Given the description of an element on the screen output the (x, y) to click on. 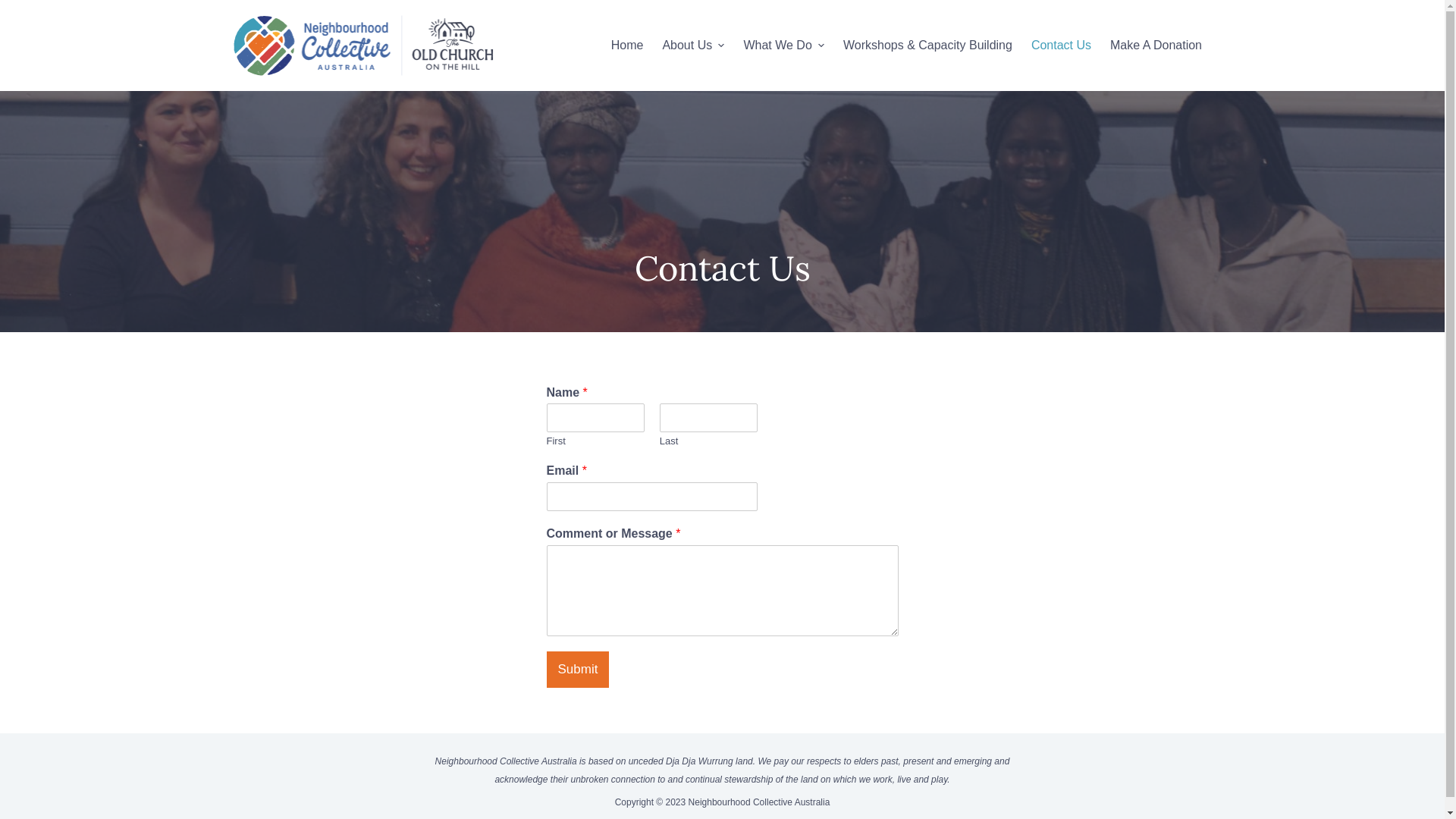
Make A Donation Element type: text (1156, 45)
Skip to content Element type: text (15, 7)
Submit Element type: text (577, 669)
Workshops & Capacity Building Element type: text (927, 45)
Home Element type: text (626, 45)
What We Do Element type: text (784, 45)
About Us Element type: text (693, 45)
Contact Us Element type: text (1060, 45)
